Given the description of an element on the screen output the (x, y) to click on. 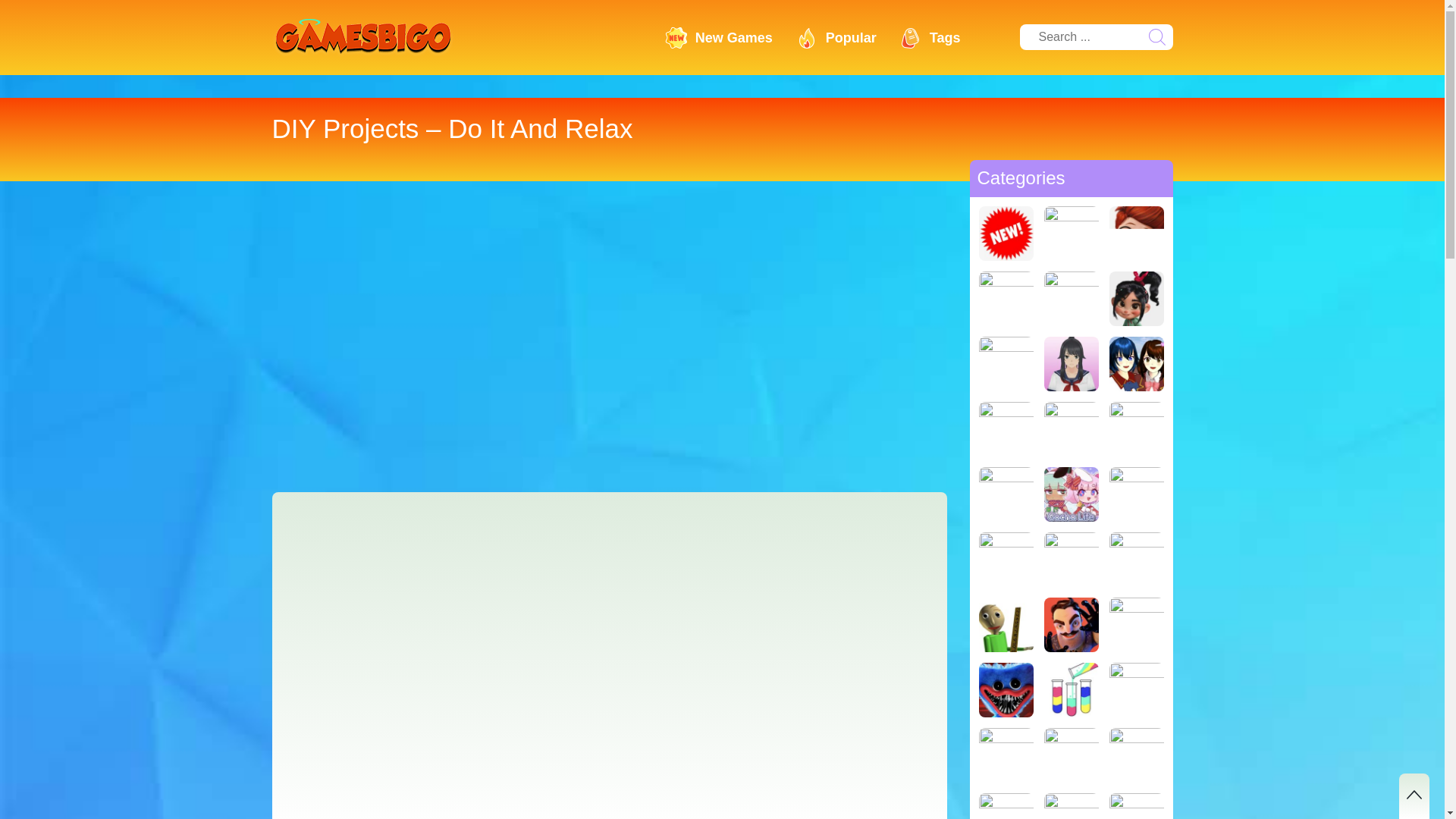
send (1156, 36)
Tags (930, 37)
New Games (718, 37)
Popular (836, 37)
